Given the description of an element on the screen output the (x, y) to click on. 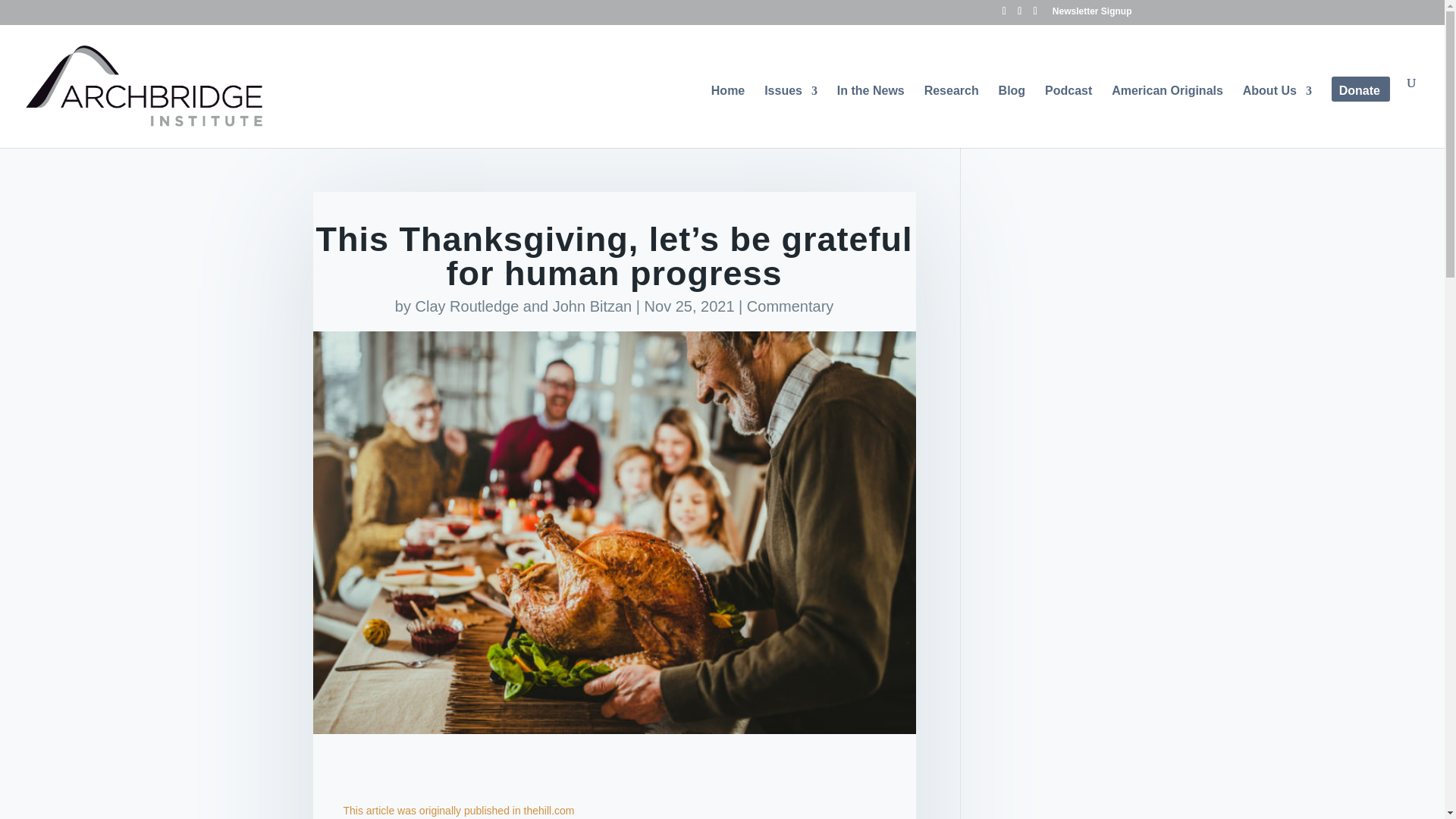
Posts by Clay Routledge and John Bitzan (522, 305)
About Us (1277, 116)
This article was originally published in thehill.com (457, 810)
Clay Routledge and John Bitzan (522, 305)
Newsletter Signup (1092, 14)
American Originals (1167, 116)
Commentary (789, 305)
In the News (870, 116)
